Given the description of an element on the screen output the (x, y) to click on. 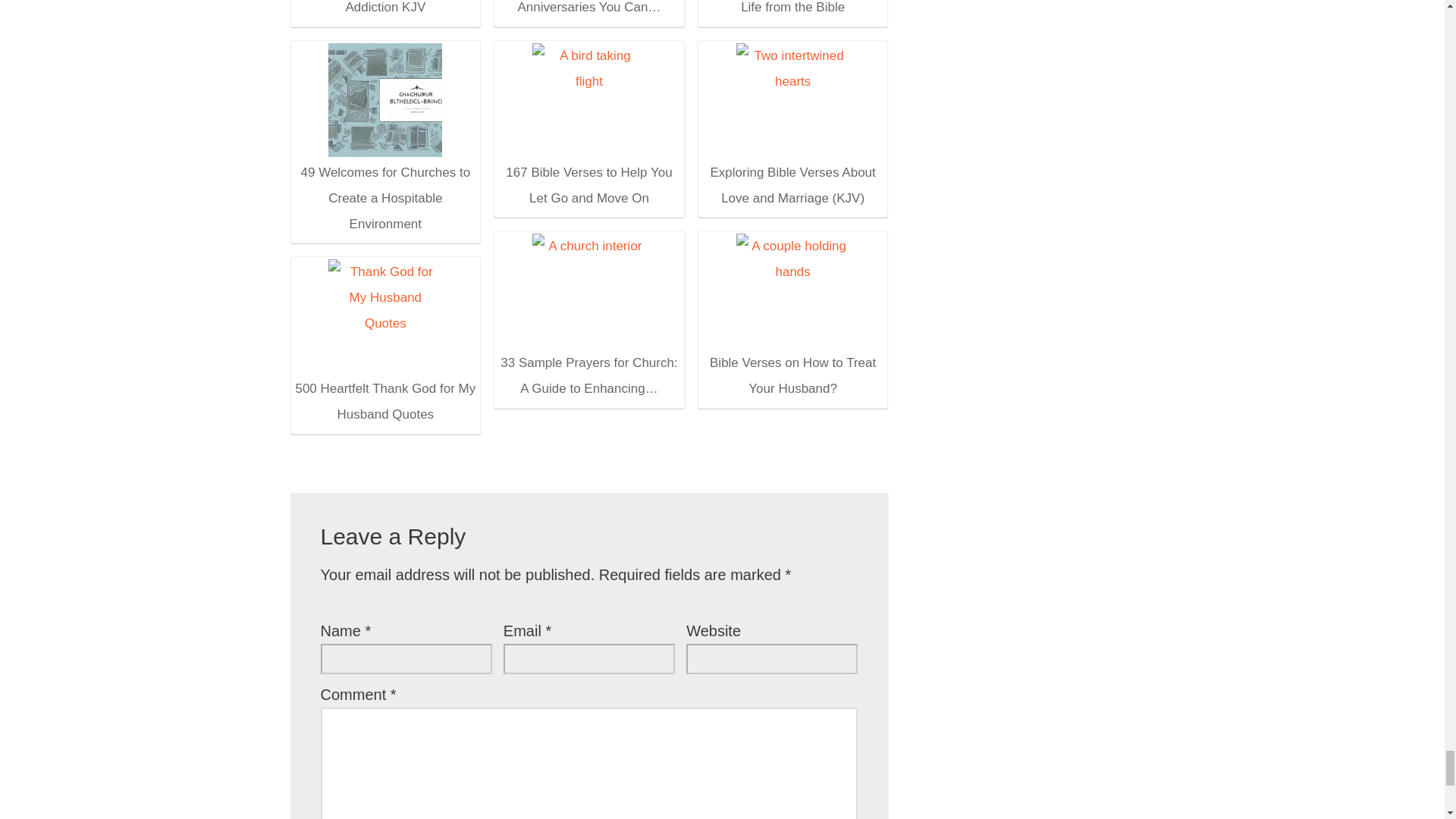
167 Bible Verses to Help You Let Go and Move On (589, 99)
500 Heartfelt Thank God for My Husband Quotes (384, 346)
500 Heartfelt Thank God for My Husband Quotes (385, 316)
49 Welcomes for Churches to Create a Hospitable Environment (384, 145)
Bible Verses on How to Treat Your Husband? (792, 318)
Bible Verses on How to Treat Your Husband? (793, 290)
49 Welcomes for Churches to Create a Hospitable Environment (385, 99)
157 Inspirational Verses About Life from the Bible (792, 11)
167 Bible Verses to Help You Let Go and Move On (588, 129)
